Given the description of an element on the screen output the (x, y) to click on. 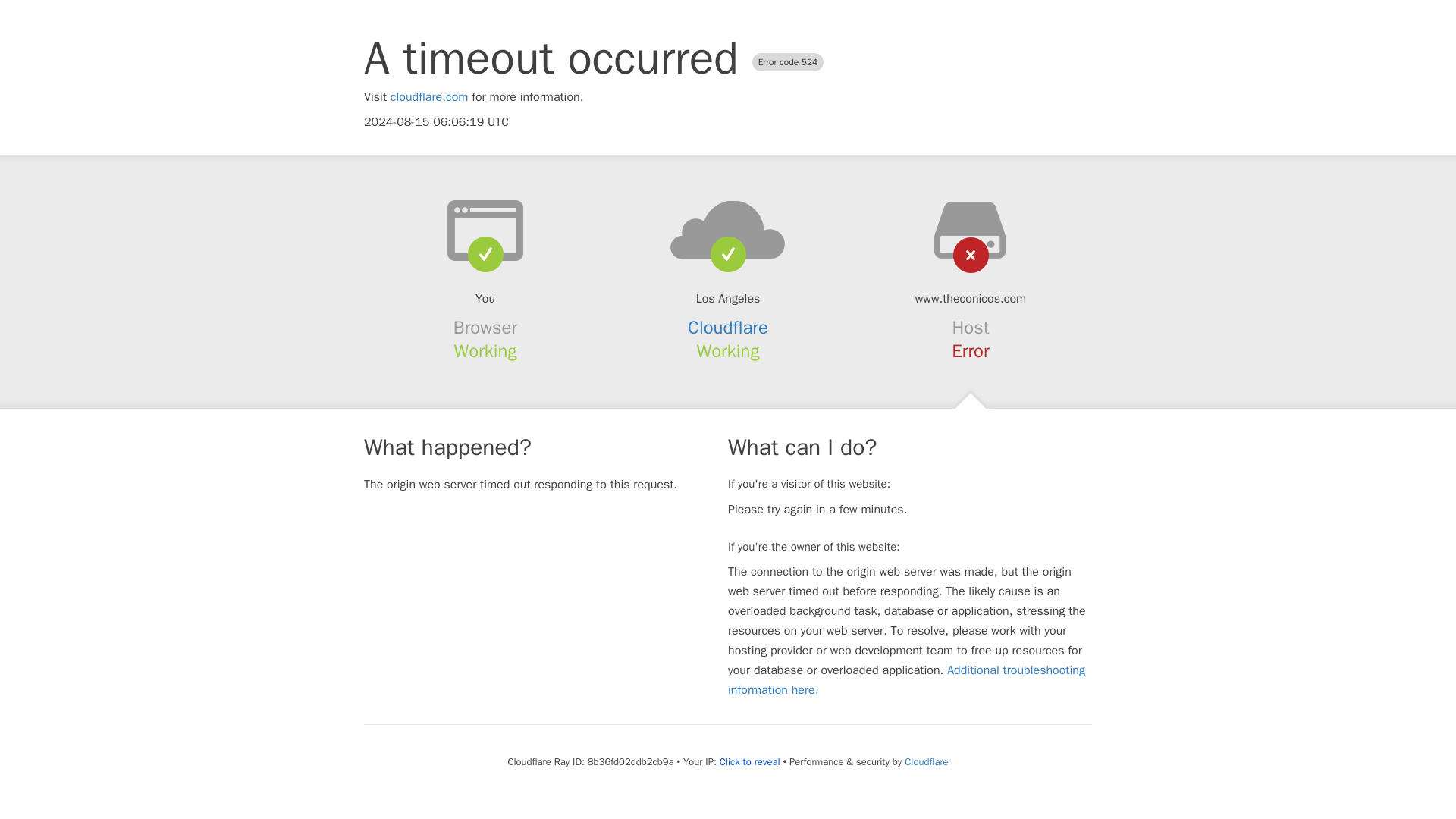
cloudflare.com (429, 96)
Additional troubleshooting information here. (906, 679)
Click to reveal (749, 762)
Cloudflare (727, 327)
Cloudflare (925, 761)
